Given the description of an element on the screen output the (x, y) to click on. 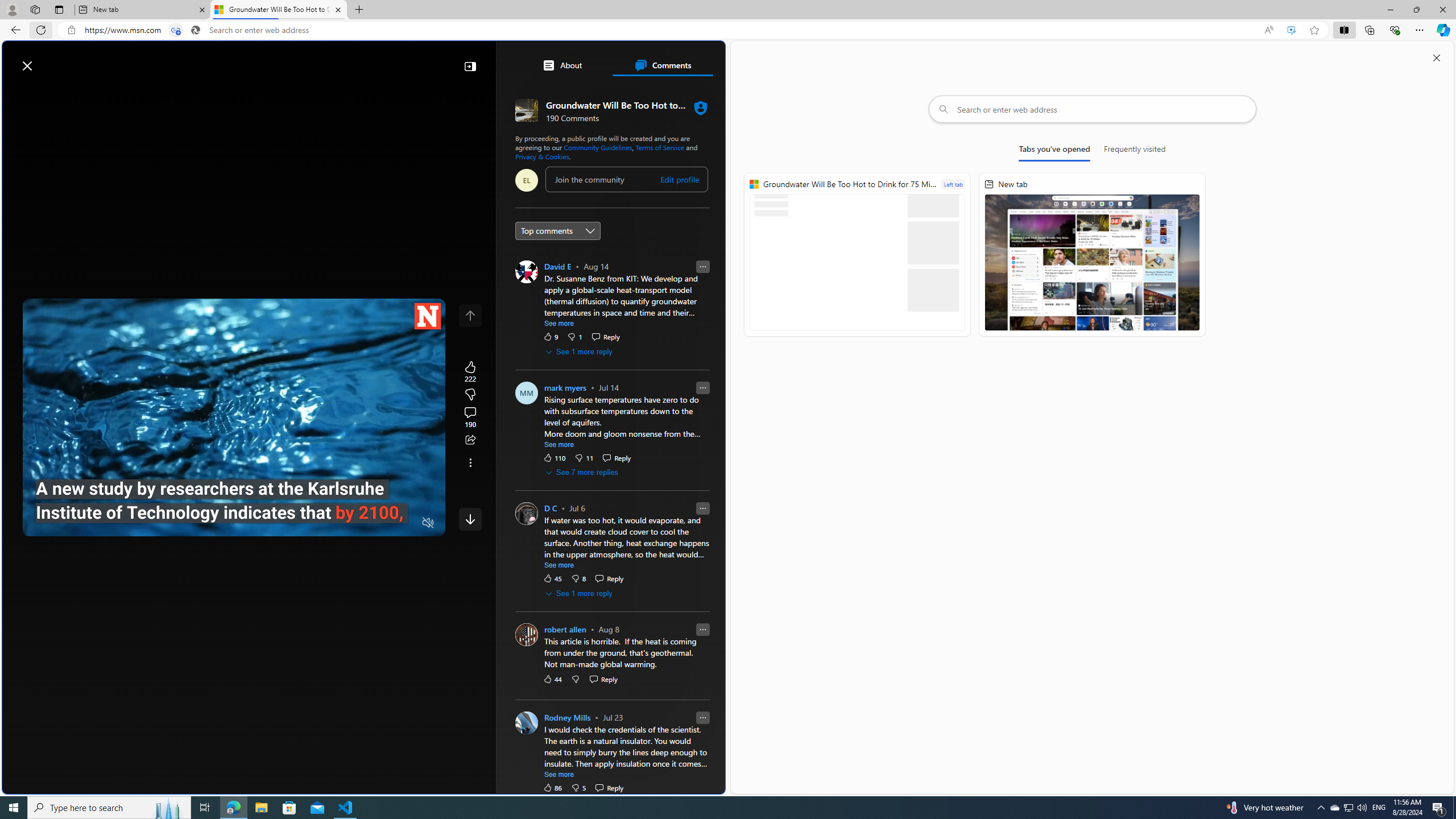
See 7 more replies (582, 472)
Seek Back (62, 523)
Fullscreen (405, 523)
Nordace.com (577, 249)
Profile Picture (526, 722)
